Given the description of an element on the screen output the (x, y) to click on. 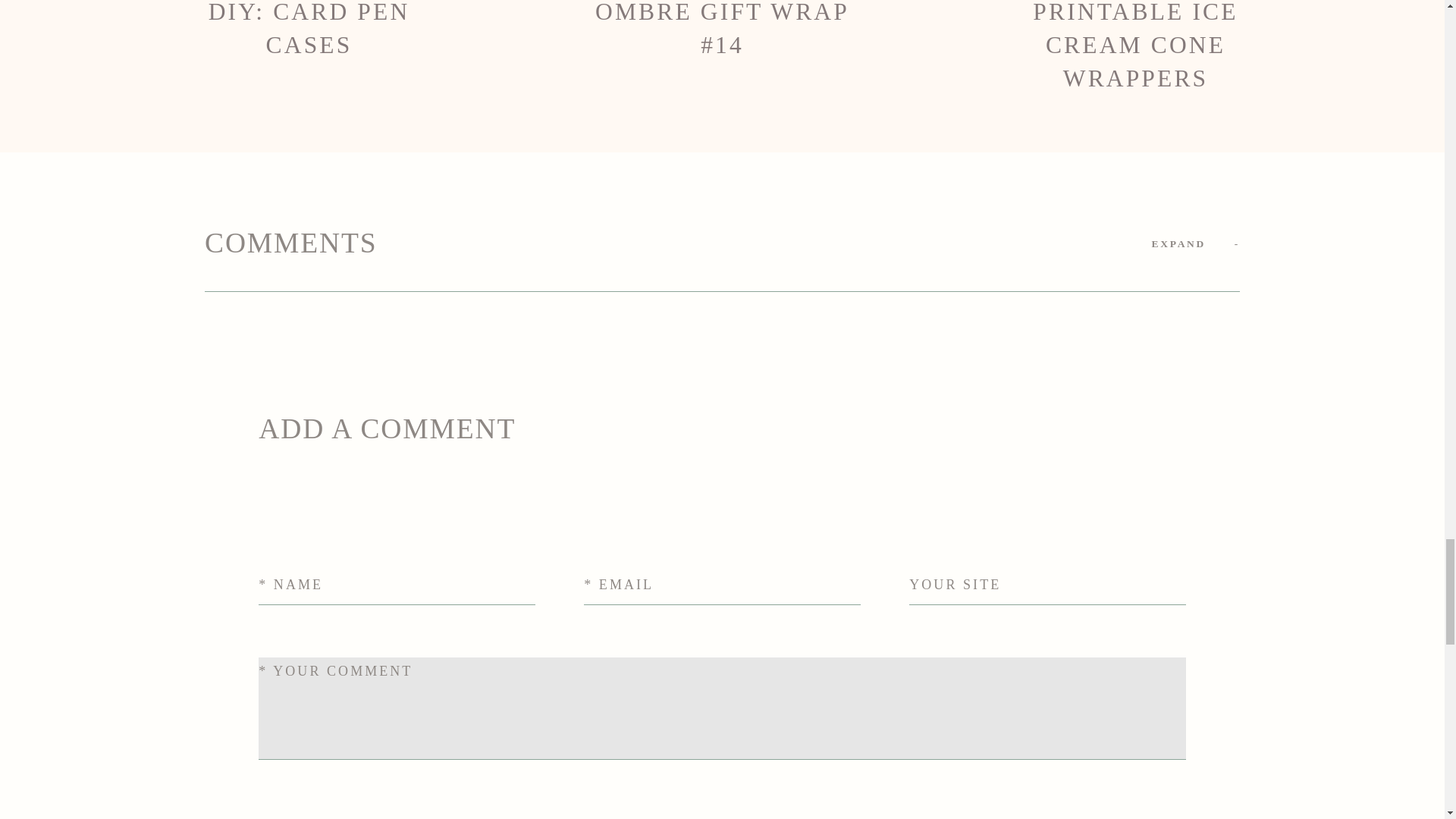
DIY: Card Pen Cases (309, 47)
